Given the description of an element on the screen output the (x, y) to click on. 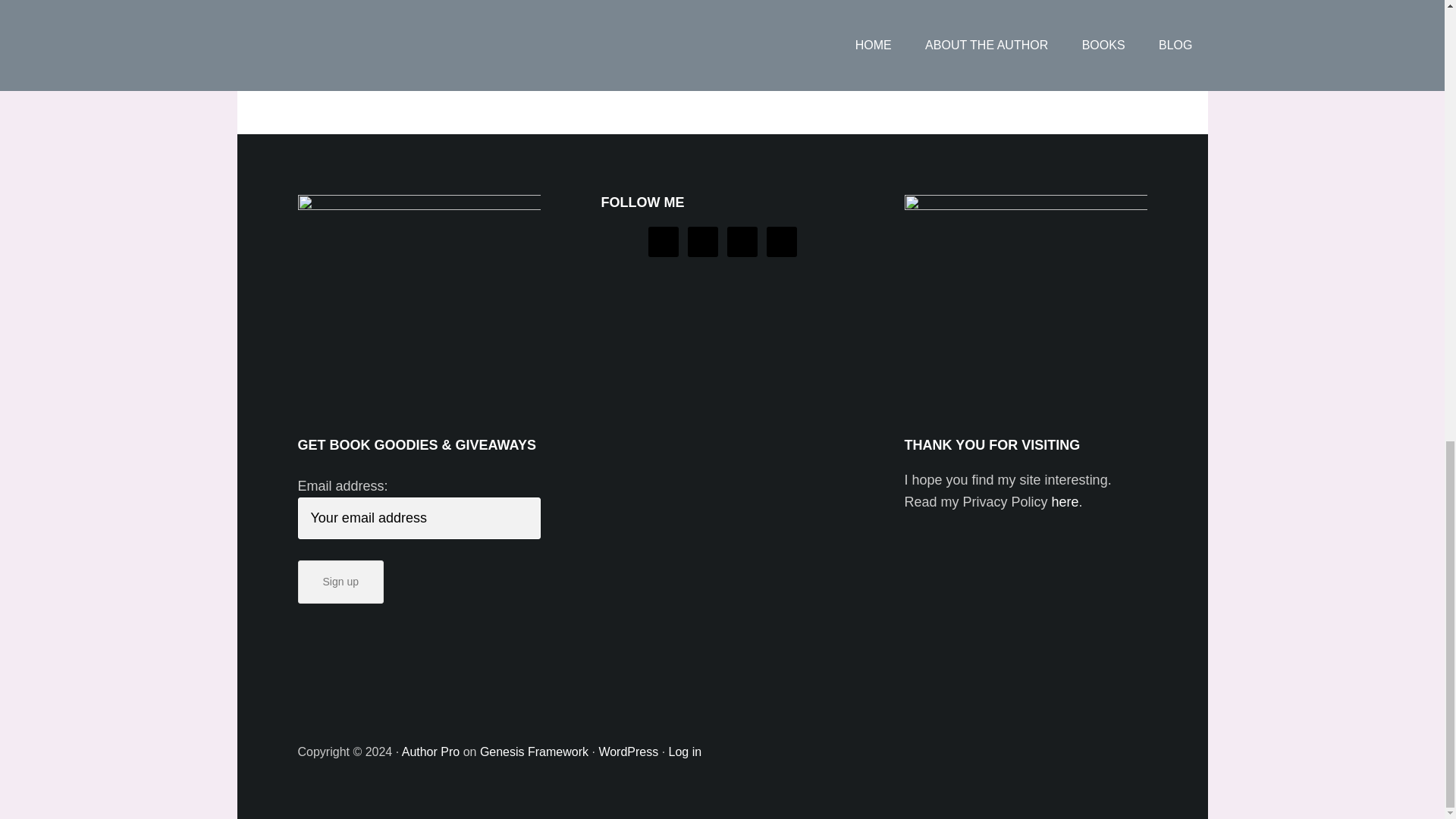
WordPress (628, 751)
Share on Reddit (383, 2)
Pin it with Pinterest (424, 2)
how do you measure success (538, 62)
how to increase social media followers (881, 62)
Share by email (505, 2)
Share by email (517, 15)
Pin it with Pinterest (436, 15)
Share on Facebook (302, 2)
Sign up (339, 581)
